Given the description of an element on the screen output the (x, y) to click on. 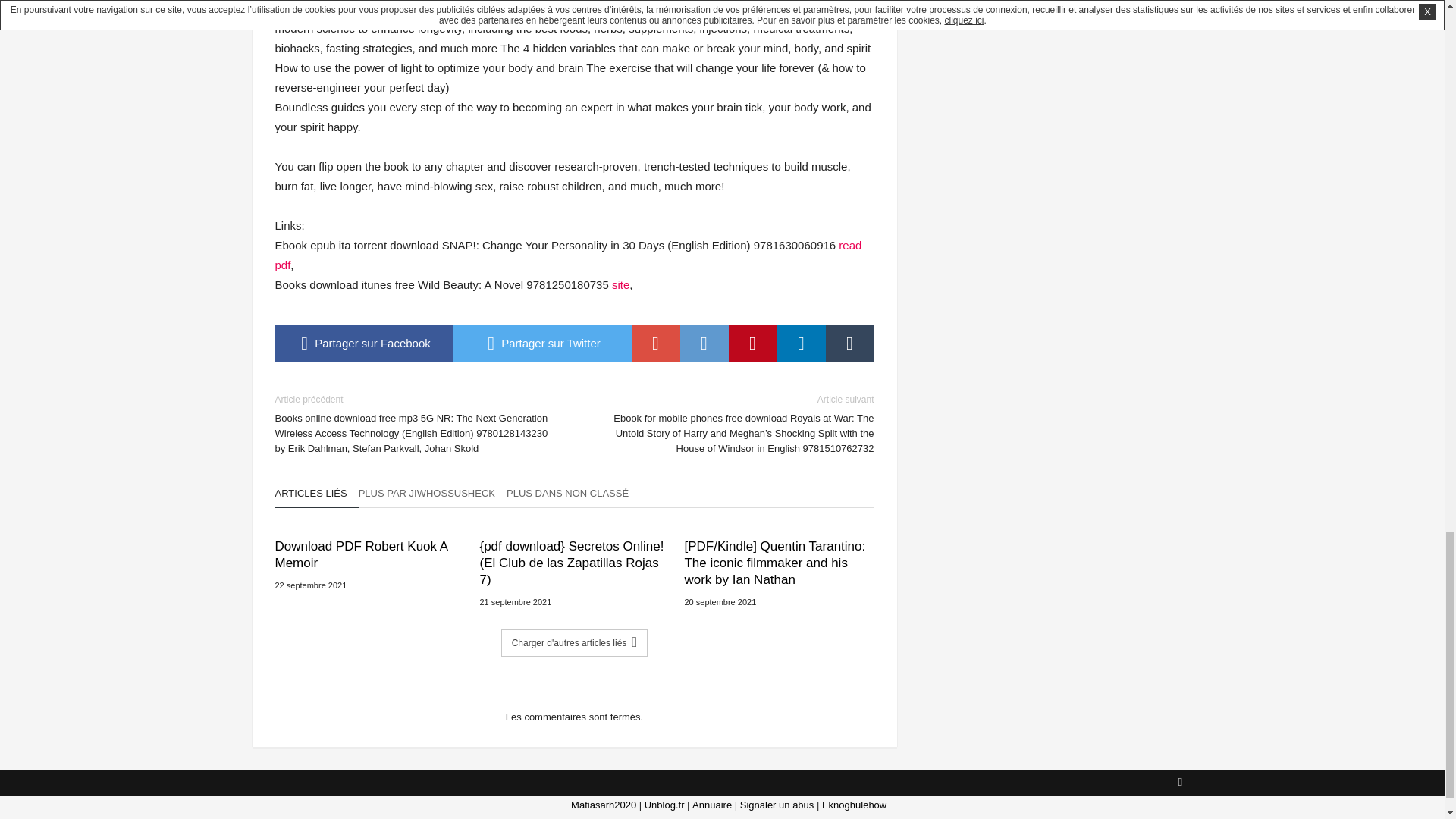
Partager sur Tumblr (849, 343)
Partager sur Linkedin (800, 343)
twitter (541, 343)
site (619, 284)
google (654, 343)
Partager sur Pinterest (752, 343)
read pdf (568, 255)
Partager sur Twitter (541, 343)
Partager sur Facebook (363, 343)
Partager sur Reddit (703, 343)
PLUS PAR JIWHOSSUSHECK (432, 496)
Download PDF Robert Kuok A Memoir (369, 554)
facebook (363, 343)
